Given the description of an element on the screen output the (x, y) to click on. 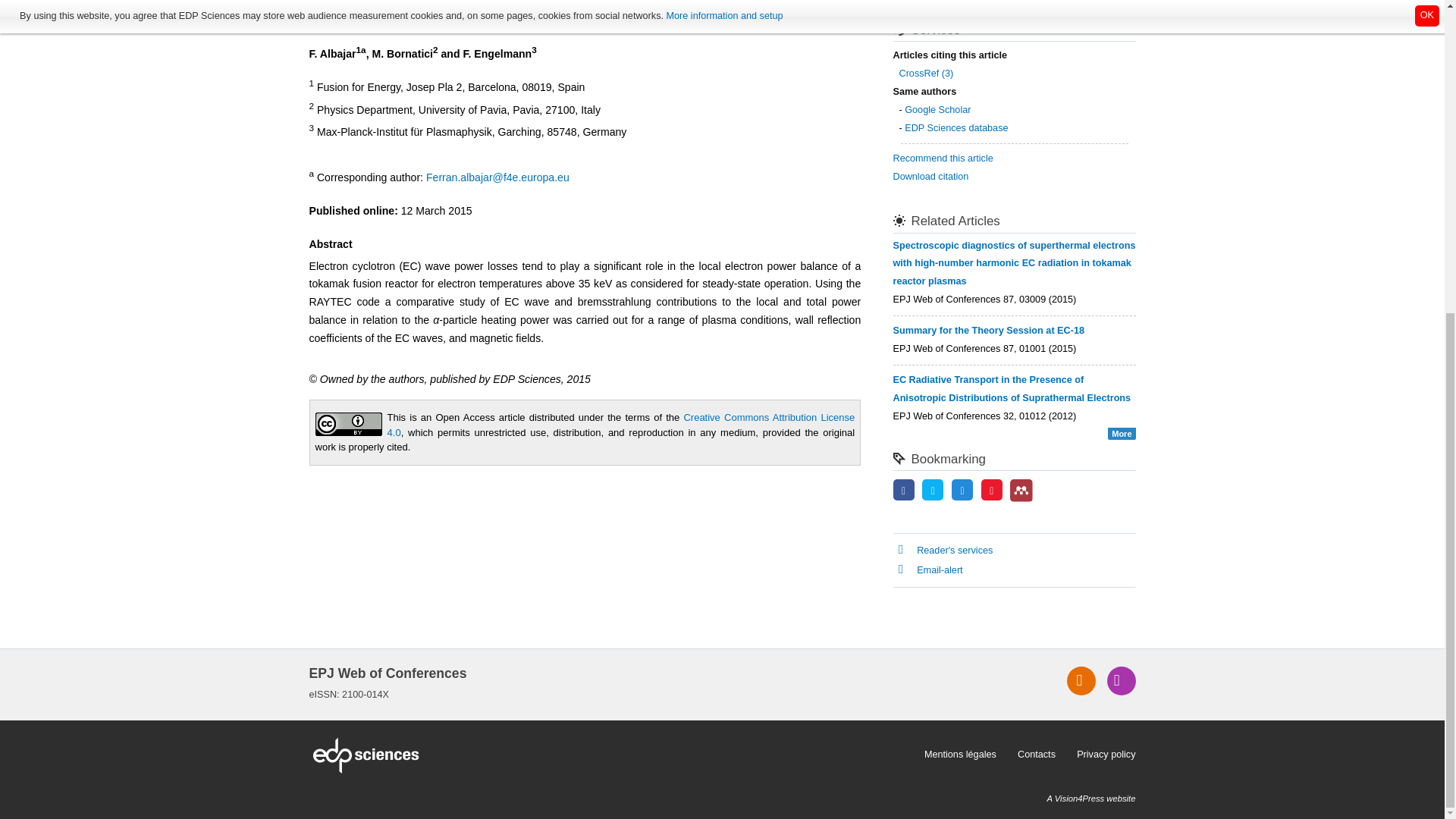
Mendeley (1021, 490)
